Given the description of an element on the screen output the (x, y) to click on. 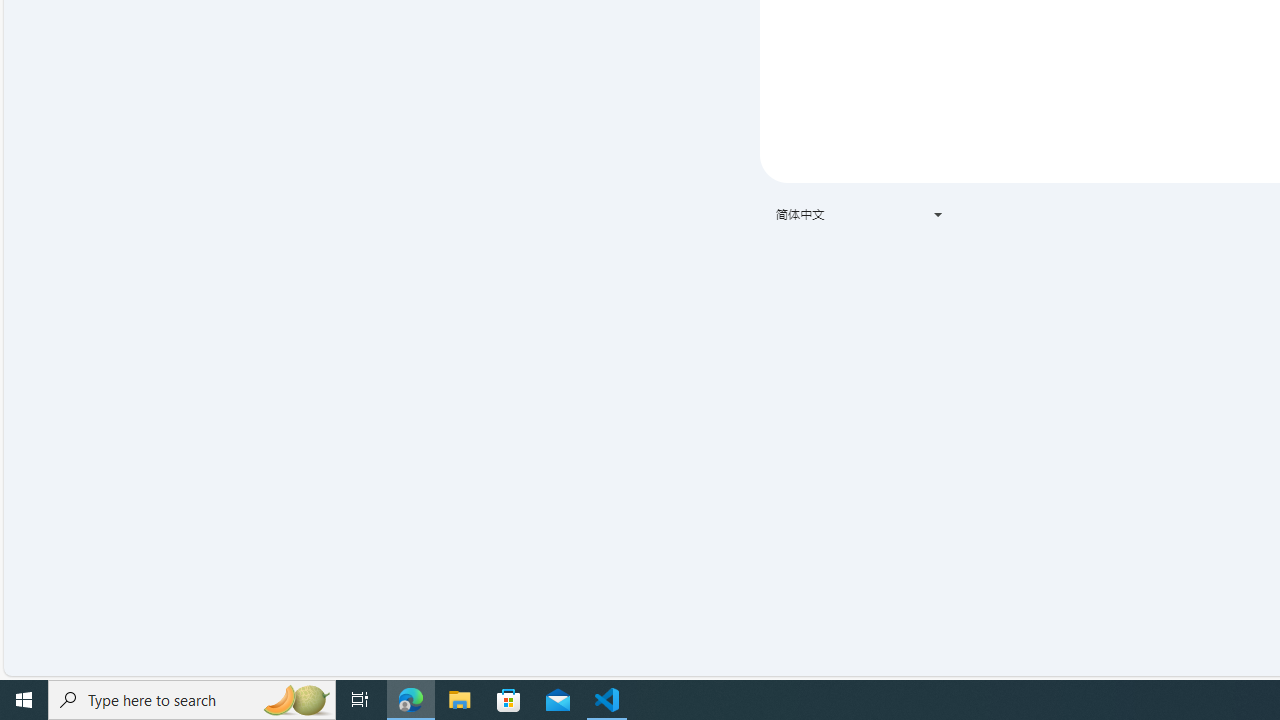
Class: VfPpkd-t08AT-Bz112c-Bd00G (938, 214)
